Given the description of an element on the screen output the (x, y) to click on. 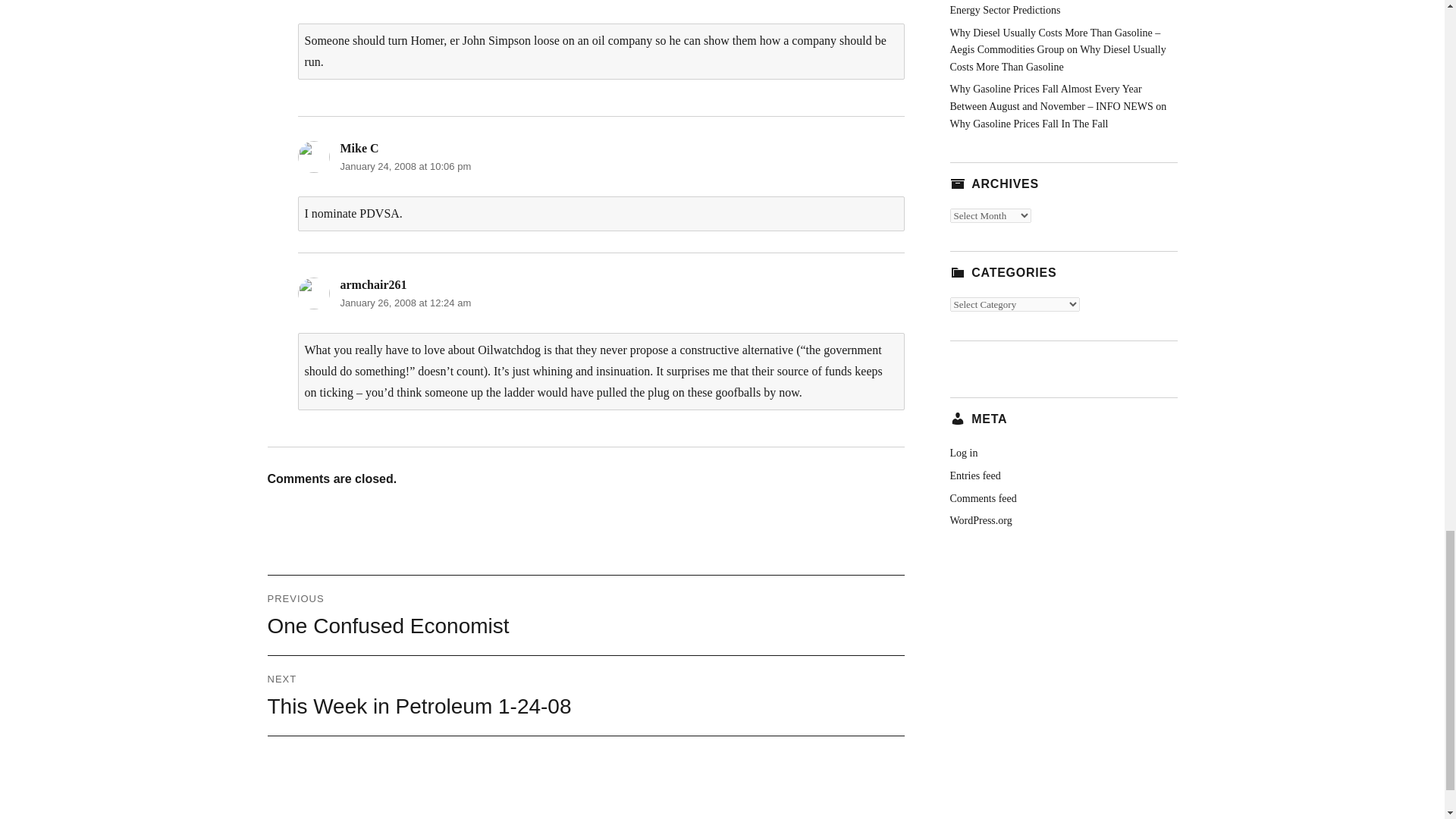
January 26, 2008 at 12:24 am (404, 302)
Grading My 2023 Energy Sector Predictions (1052, 7)
January 24, 2008 at 10:06 pm (404, 165)
